Given the description of an element on the screen output the (x, y) to click on. 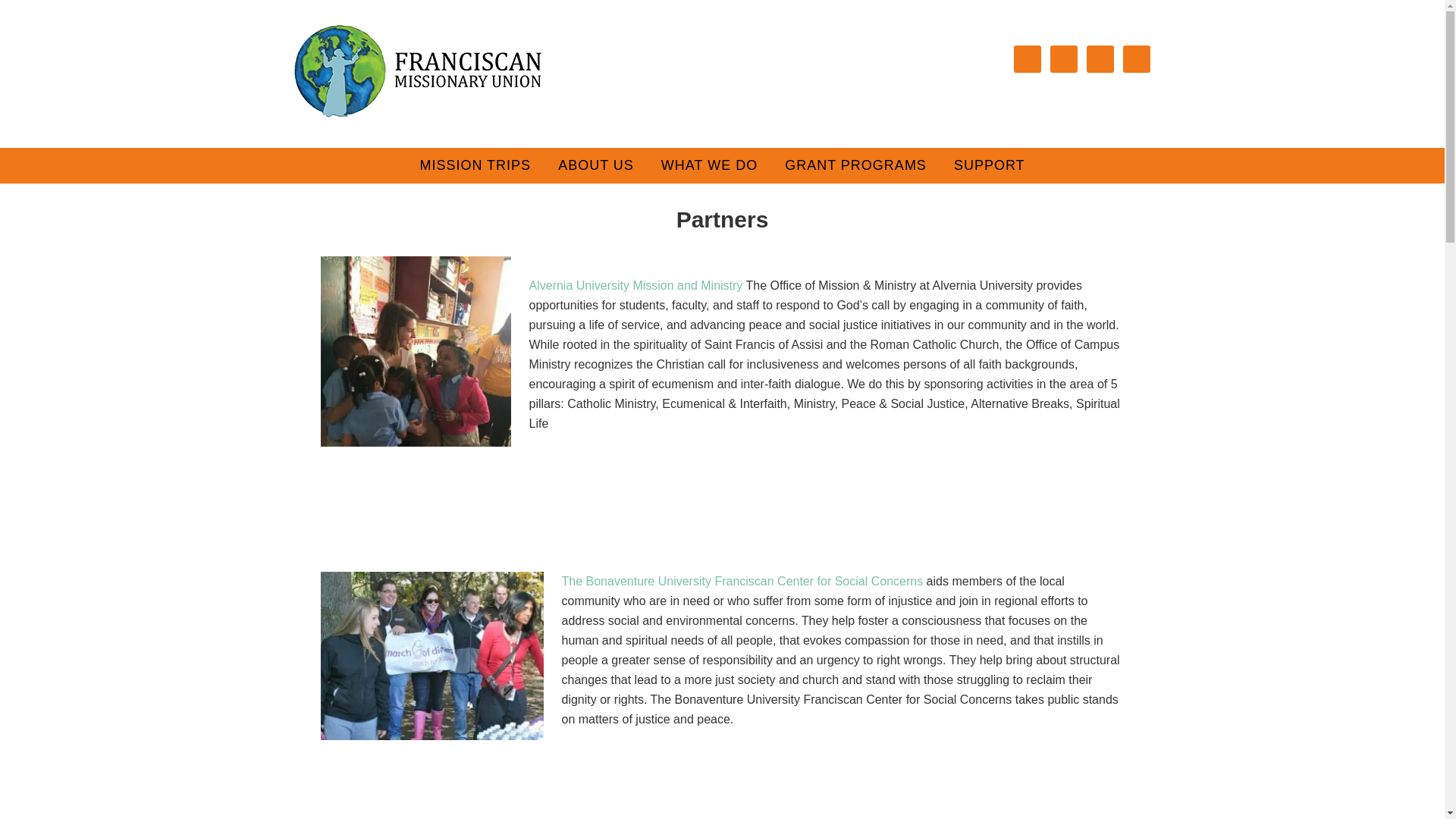
Alvernia University Mission and Ministry (635, 285)
MISSION TRIPS (474, 165)
The Bonaventure University Center for Social Concerns (431, 655)
GRANT PROGRAMS (855, 165)
Franciscan Missionary Union (416, 71)
WHAT WE DO (708, 165)
Franciscan Missionary Union (416, 115)
ABOUT US (596, 165)
SUPPORT (989, 165)
